Given the description of an element on the screen output the (x, y) to click on. 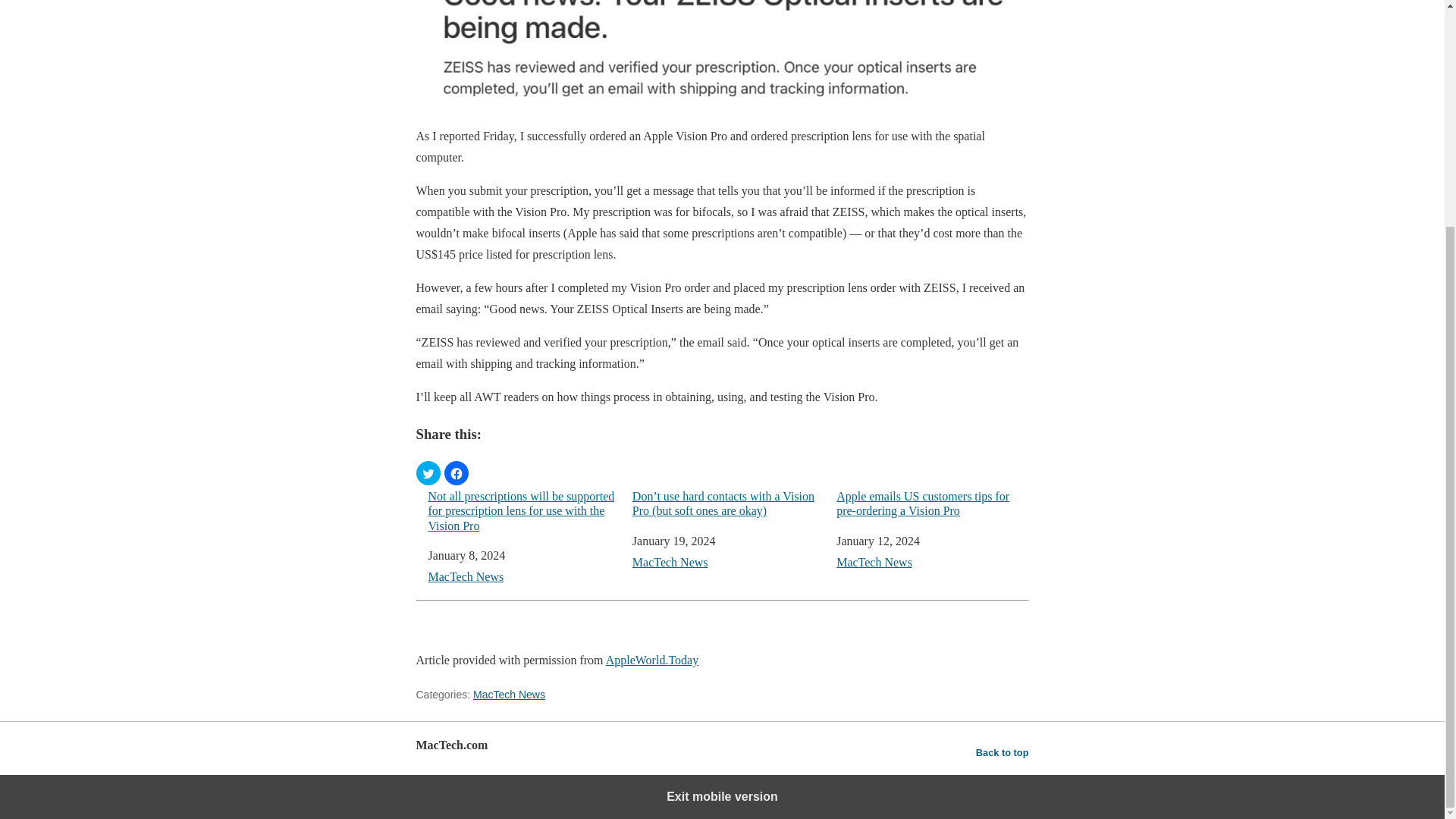
Back to top (1002, 752)
MacTech News (508, 694)
Click to share on Twitter (426, 473)
MacTech News (873, 562)
MacTech News (465, 576)
Apple emails US customers tips for pre-ordering a Vision Pro (931, 502)
MacTech News (669, 562)
Click to share on Facebook (456, 473)
AppleWorld.Today (651, 659)
